Given the description of an element on the screen output the (x, y) to click on. 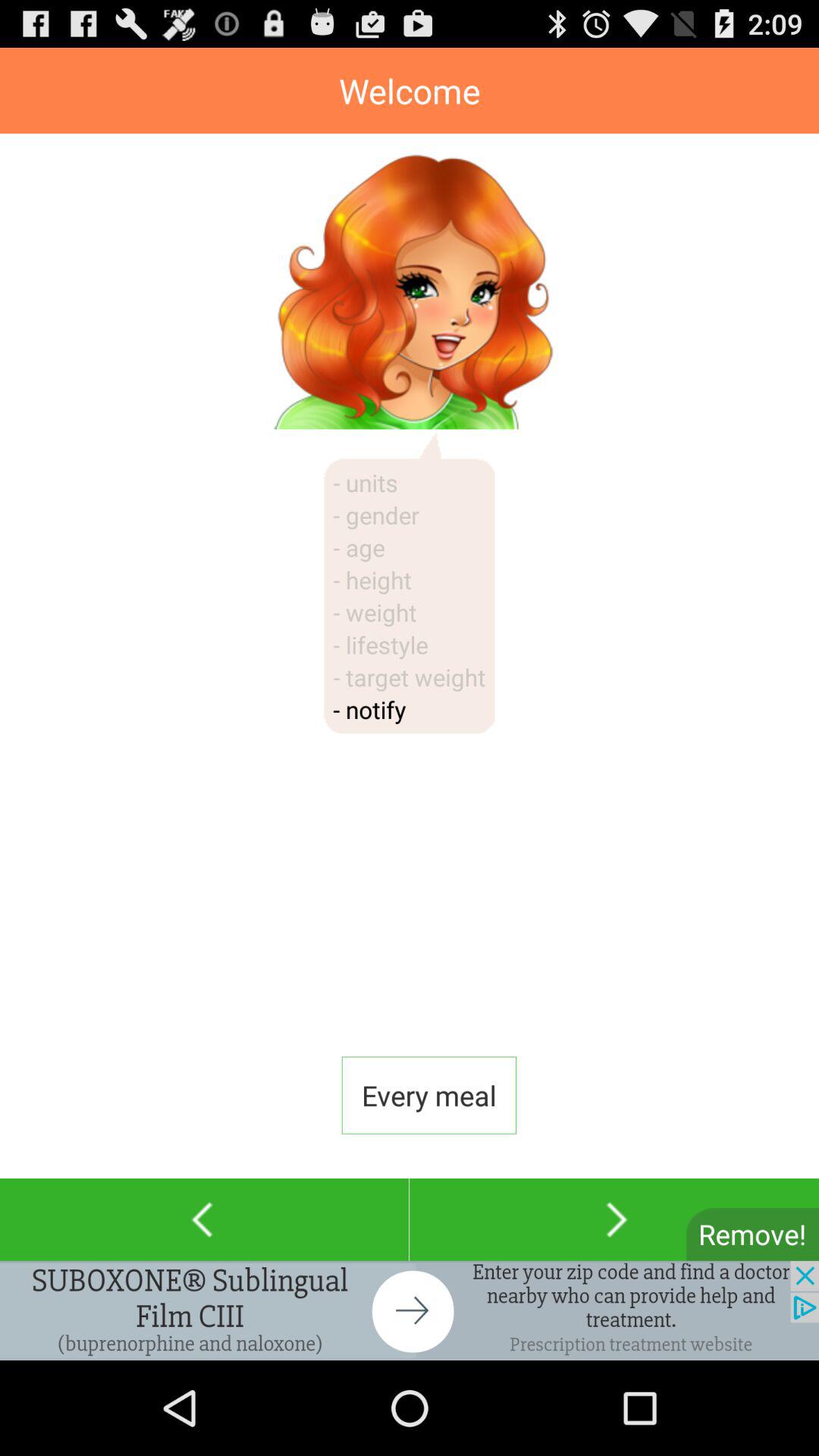
previous page (204, 1219)
